Given the description of an element on the screen output the (x, y) to click on. 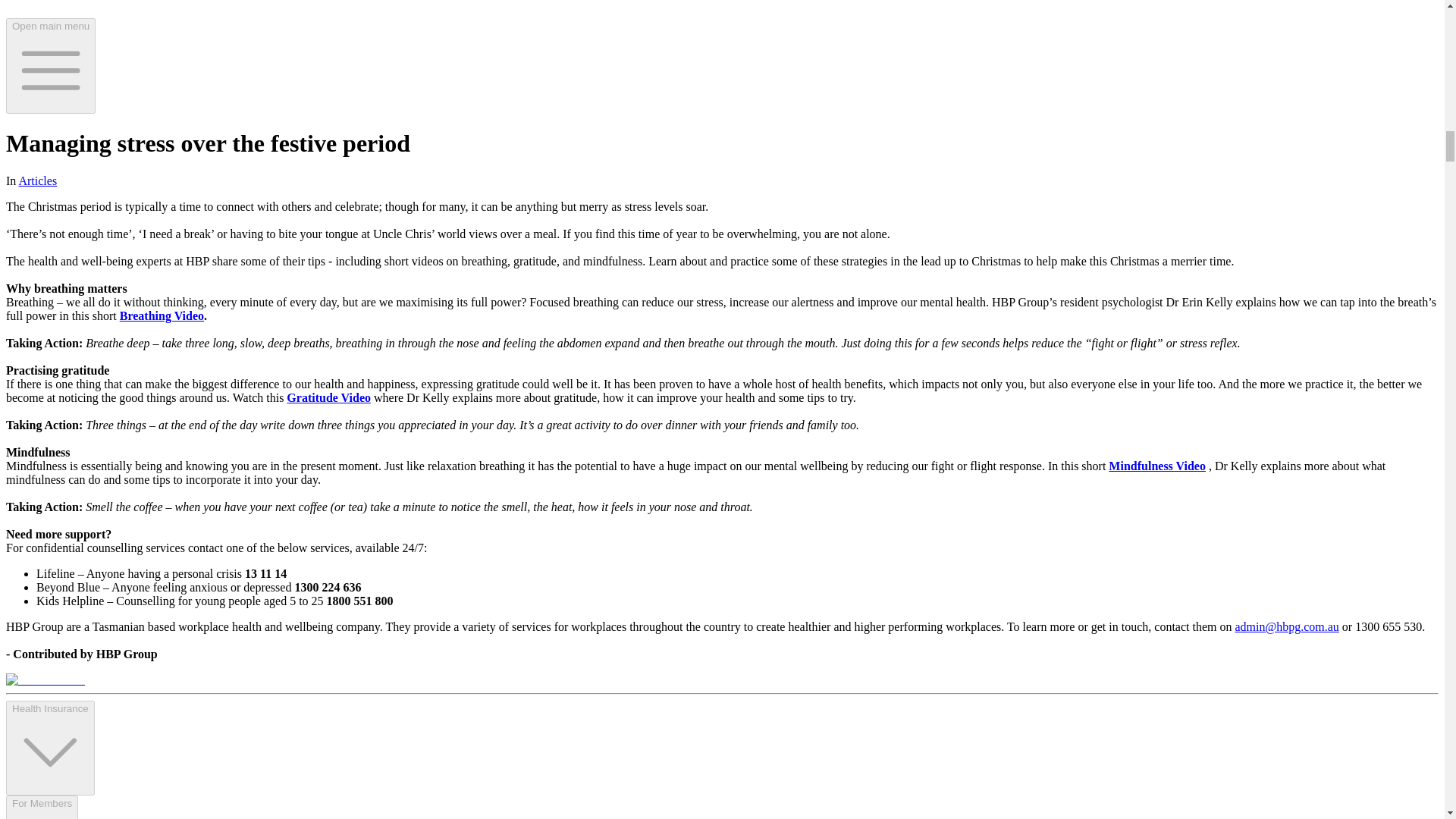
Mindfulness Video (1156, 465)
Articles (36, 180)
Open main menu (50, 65)
Gratitude Video (328, 397)
Breathing Video (161, 315)
Health Insurance (49, 748)
For Members (41, 807)
